Given the description of an element on the screen output the (x, y) to click on. 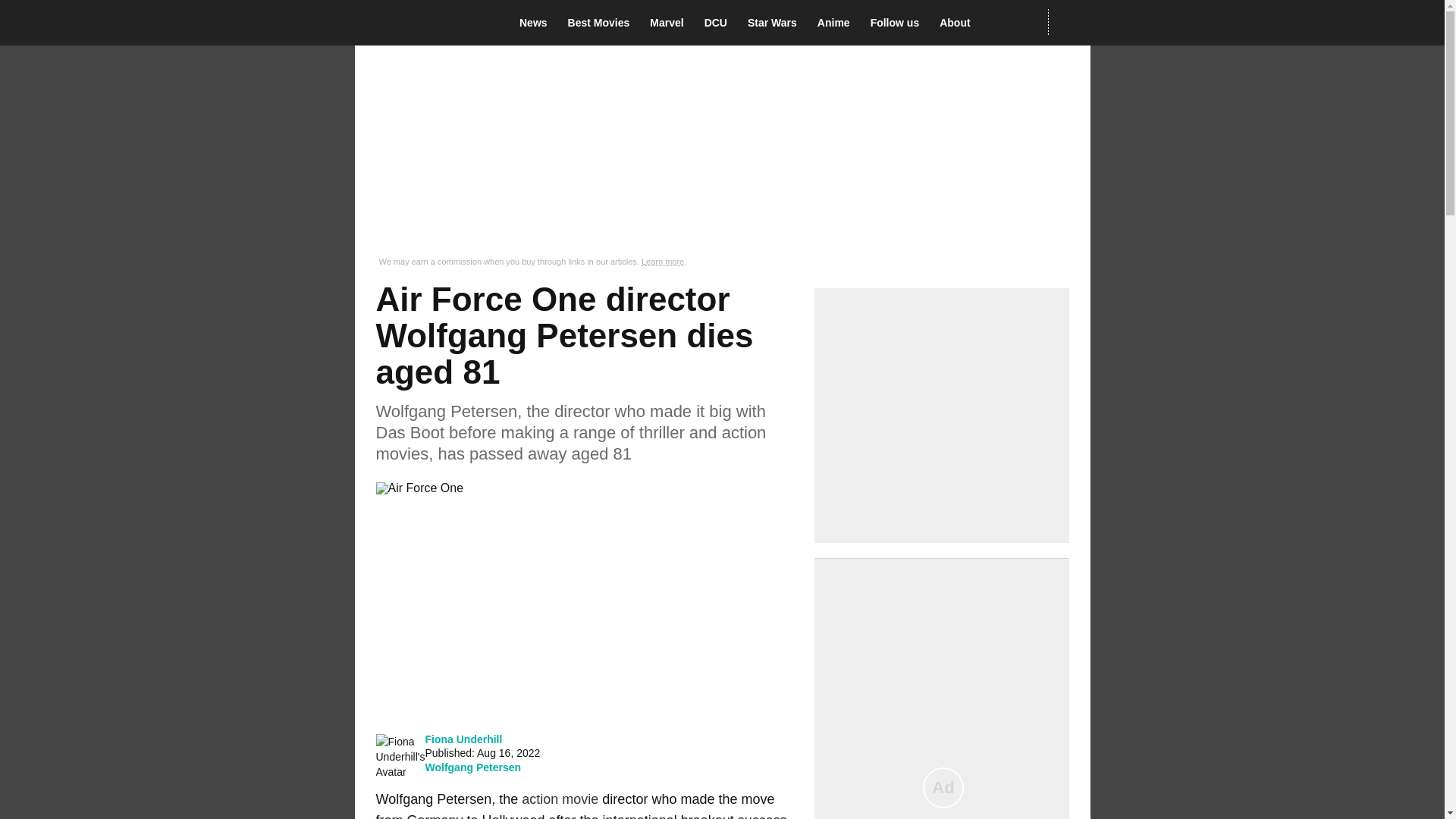
Network N Media (1068, 22)
Anime News (837, 22)
Best Movies (603, 22)
Star Wars (777, 22)
action movie (559, 798)
Learn more (663, 261)
Star Wars News (777, 22)
Fiona Underhill (463, 739)
The Digital Fix (424, 22)
Anime (837, 22)
